Given the description of an element on the screen output the (x, y) to click on. 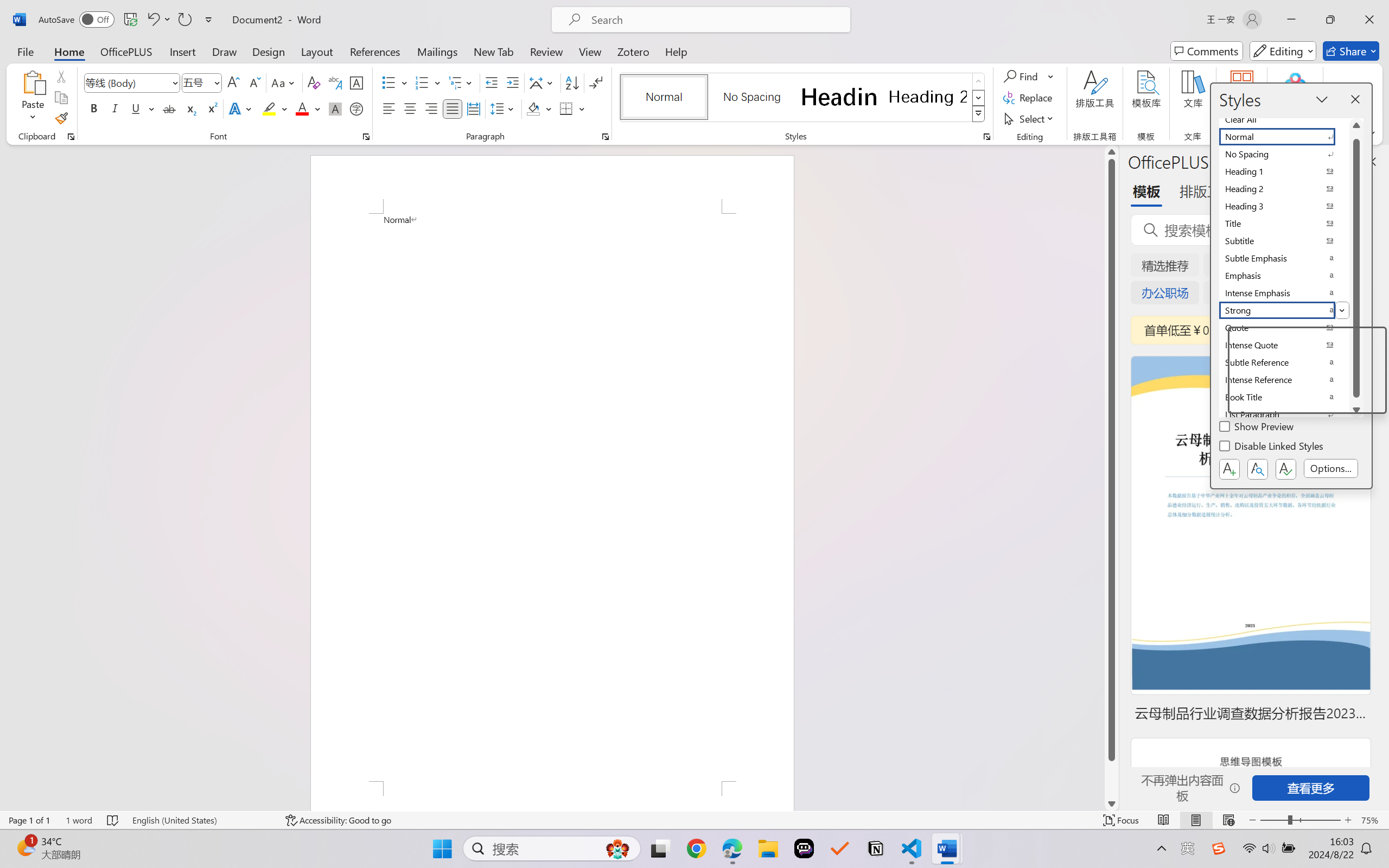
Ribbon Display Options (1370, 132)
Close (1369, 19)
More Options (1051, 75)
Undo Apply Quick Style (158, 19)
Page 1 content (551, 497)
Line up (1111, 151)
Zoom Out (1273, 819)
Strikethrough (169, 108)
Draw (224, 51)
Save (130, 19)
Subtle Reference (1283, 362)
Change Case (284, 82)
View (589, 51)
Class: Image (1218, 847)
